Given the description of an element on the screen output the (x, y) to click on. 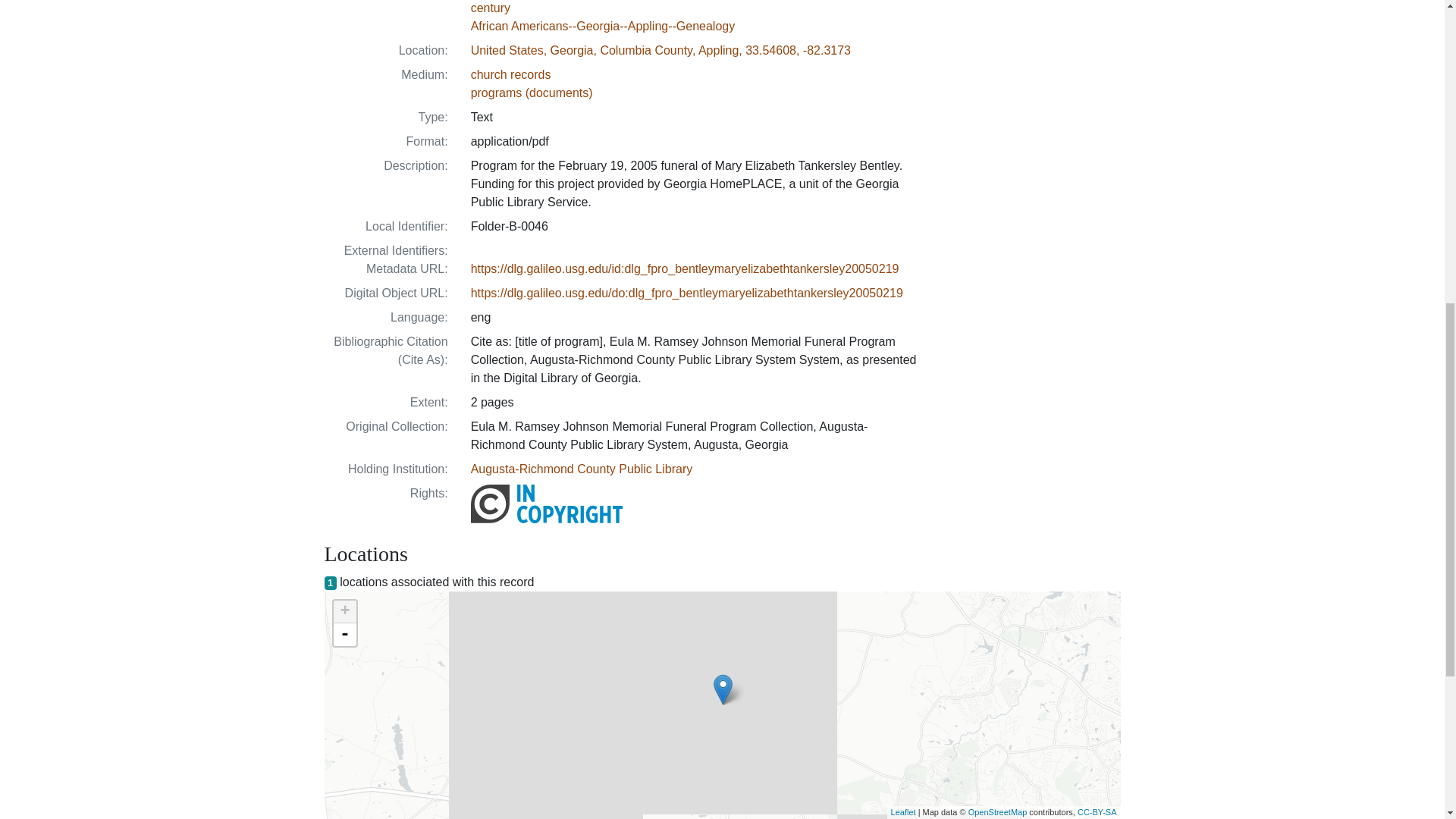
Zoom in (344, 611)
Zoom out (344, 634)
A JS library for interactive maps (903, 811)
